Given the description of an element on the screen output the (x, y) to click on. 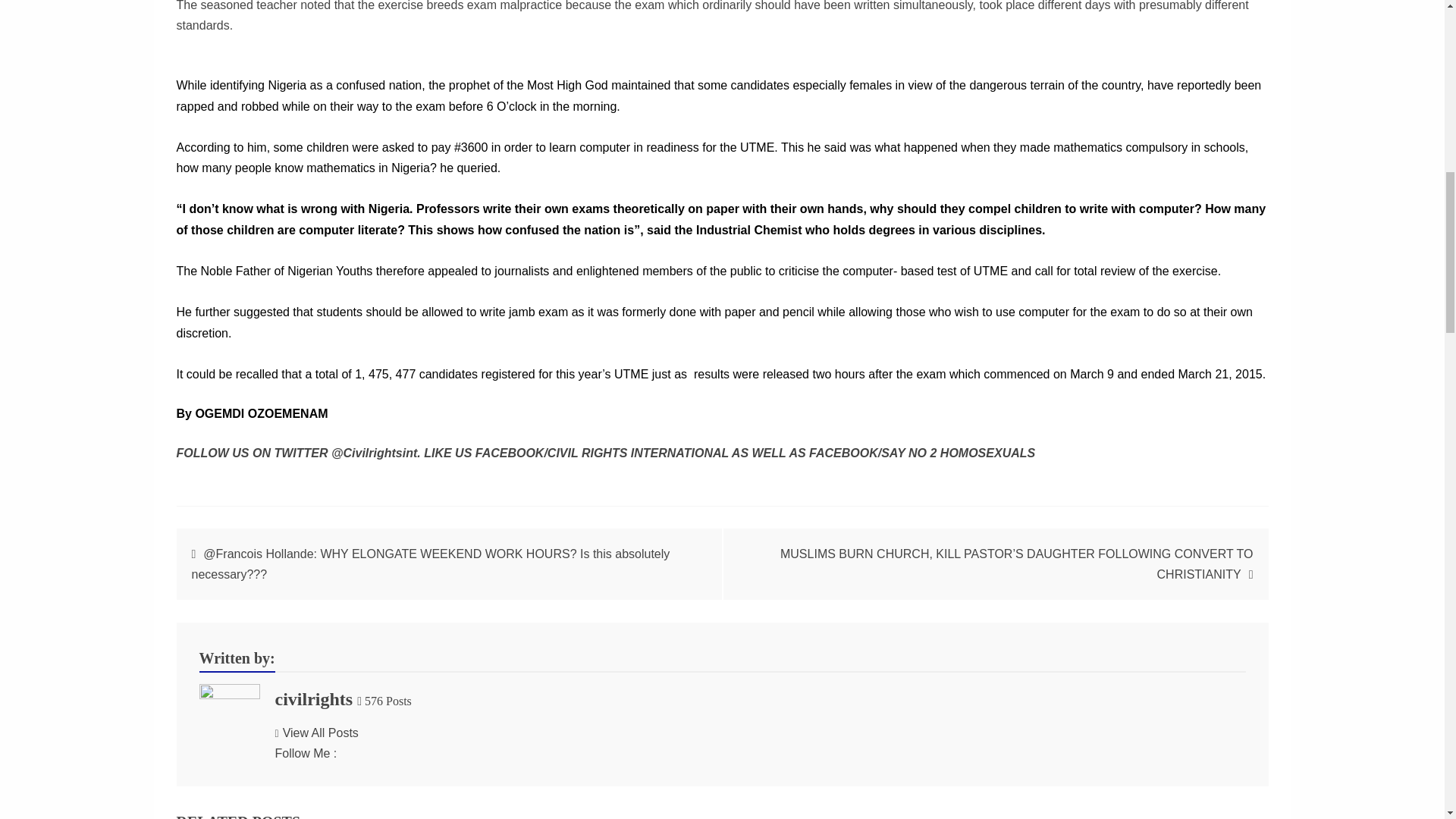
Posts by civilrights (313, 699)
civilrights (313, 699)
View All Posts (316, 732)
